Given the description of an element on the screen output the (x, y) to click on. 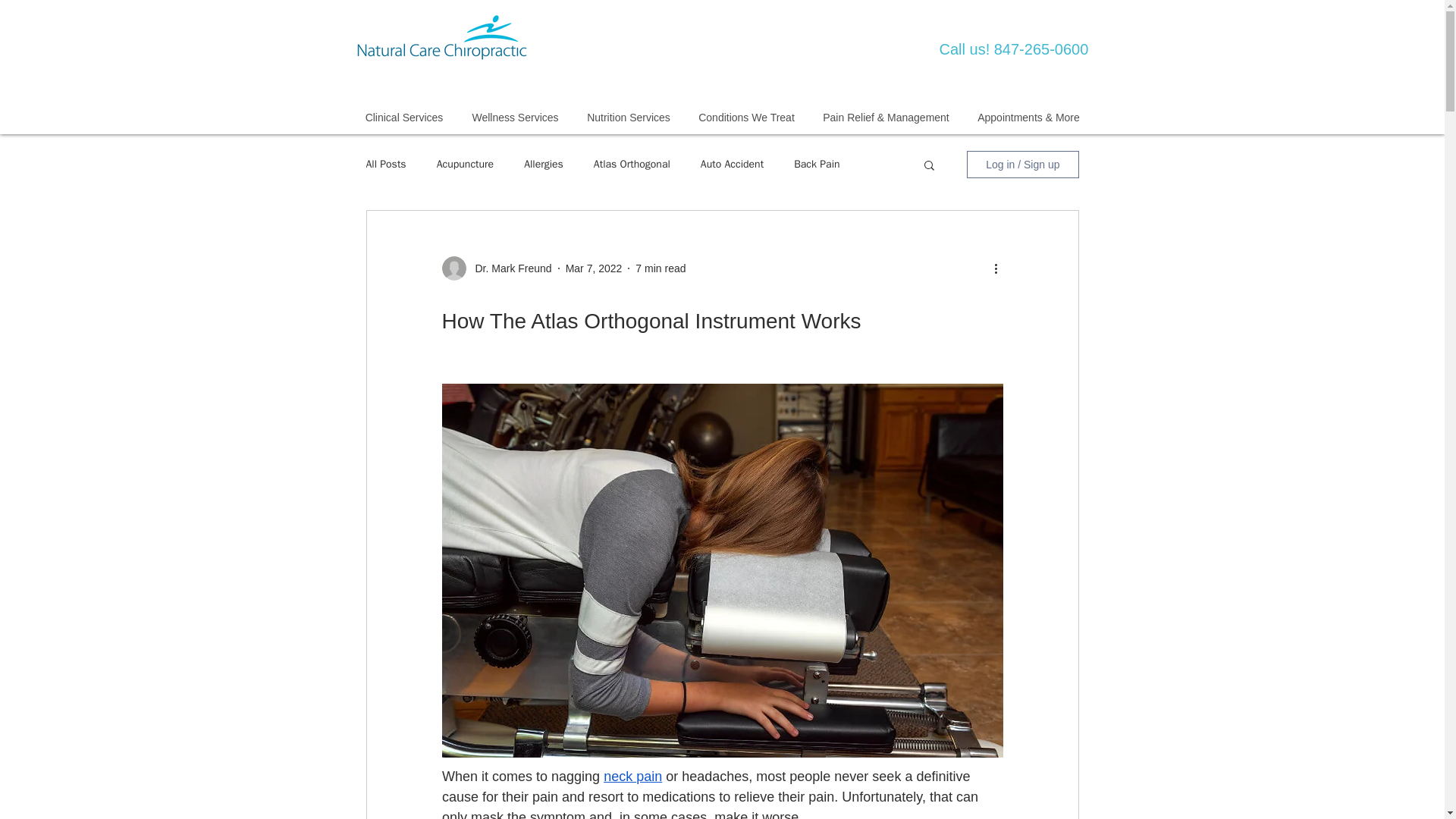
Dr. Mark Freund (508, 268)
Wellness Services (515, 117)
Nutrition Services (628, 117)
Clinical Services (403, 117)
Conditions We Treat (746, 117)
Mar 7, 2022 (594, 268)
7 min read (659, 268)
